Given the description of an element on the screen output the (x, y) to click on. 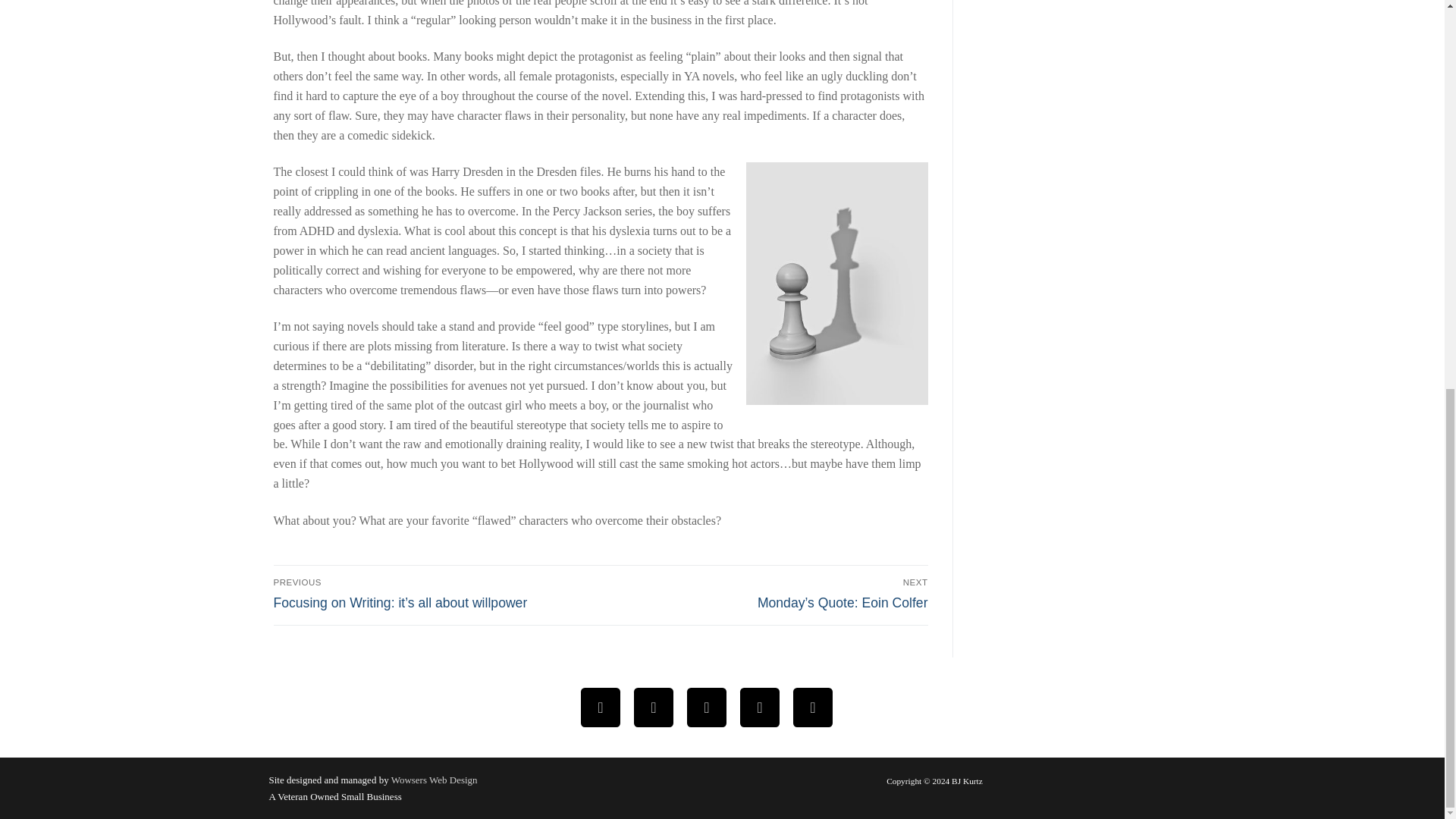
Facebook (600, 707)
Twitter (653, 707)
Youtube (706, 707)
Linked In (759, 707)
Wowsers Web Design (434, 779)
Good Reads (813, 707)
